Given the description of an element on the screen output the (x, y) to click on. 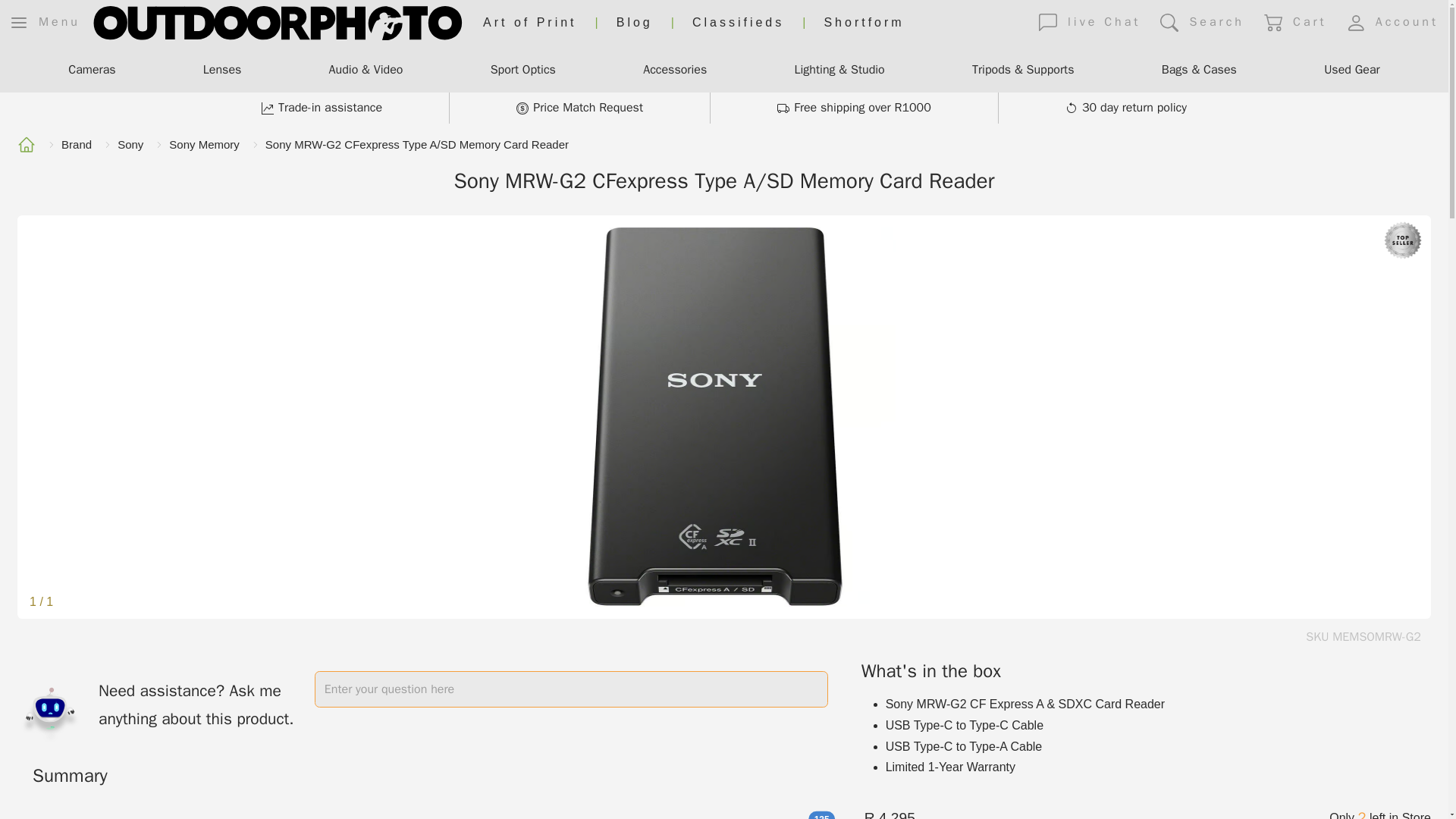
Free shipping over R1000 (854, 108)
Art of Print (529, 22)
Used Gear (1351, 70)
Menu (45, 22)
Sport Optics (523, 70)
live Chat (1089, 22)
Outdoorphoto (277, 22)
Trade-in assistance (322, 108)
Classifieds (738, 22)
Accessories (674, 70)
